Given the description of an element on the screen output the (x, y) to click on. 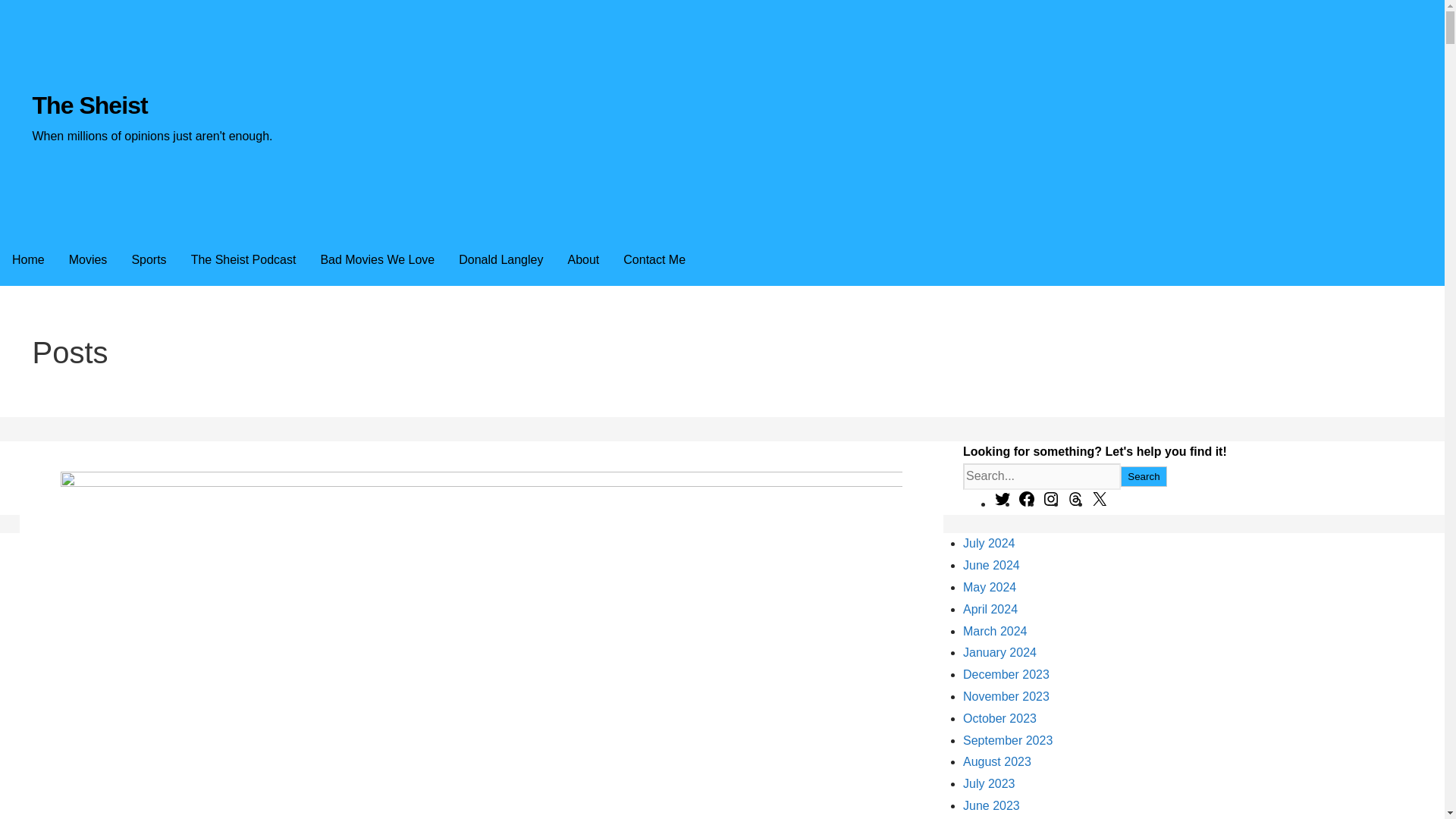
Donald Langley (500, 259)
Movies (87, 259)
The Sheist (89, 104)
Sports (148, 259)
About (582, 259)
Home (28, 259)
Bad Movies We Love (376, 259)
Contact Me (654, 259)
The Sheist Podcast (243, 259)
